Given the description of an element on the screen output the (x, y) to click on. 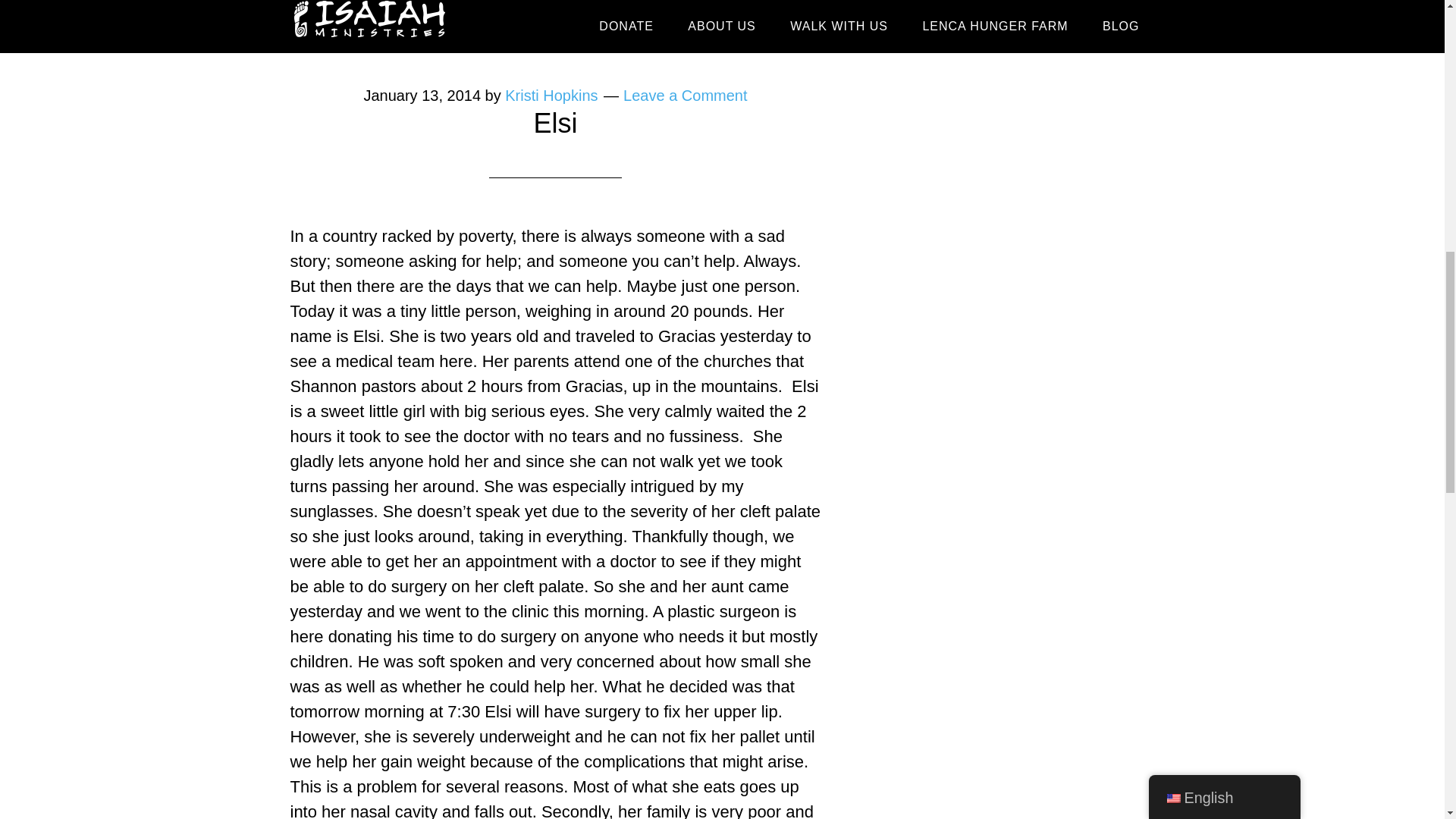
Leave a Comment (684, 95)
Elsi (413, 2)
Elsi (554, 122)
Kristi Hopkins (550, 95)
